Given the description of an element on the screen output the (x, y) to click on. 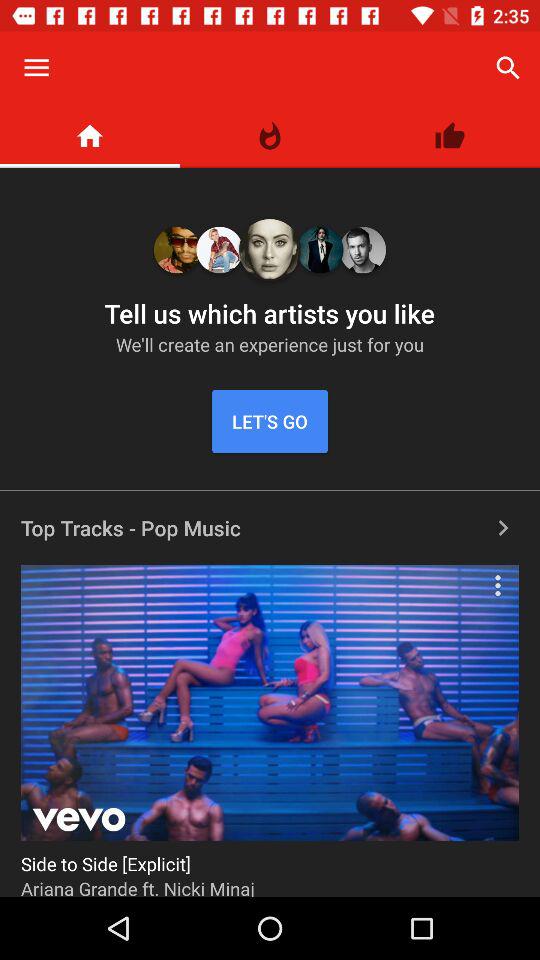
flip until let's go (269, 421)
